Given the description of an element on the screen output the (x, y) to click on. 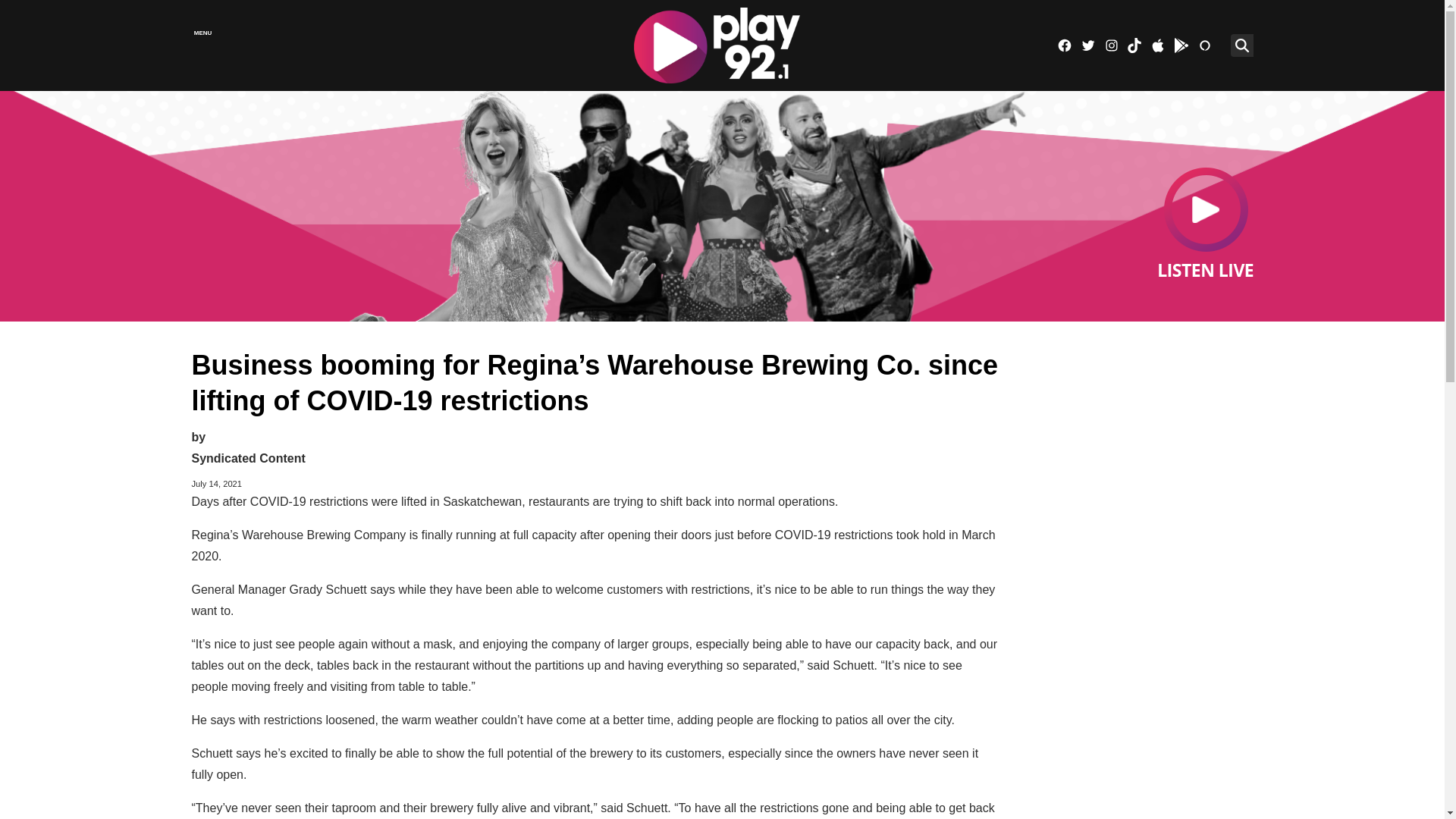
TikTok (1133, 45)
Twitter (1088, 45)
Instagram (1111, 45)
Ask Alexa (1203, 45)
Google Play (1181, 45)
Apple Store (1158, 45)
Facebook (1064, 45)
